Given the description of an element on the screen output the (x, y) to click on. 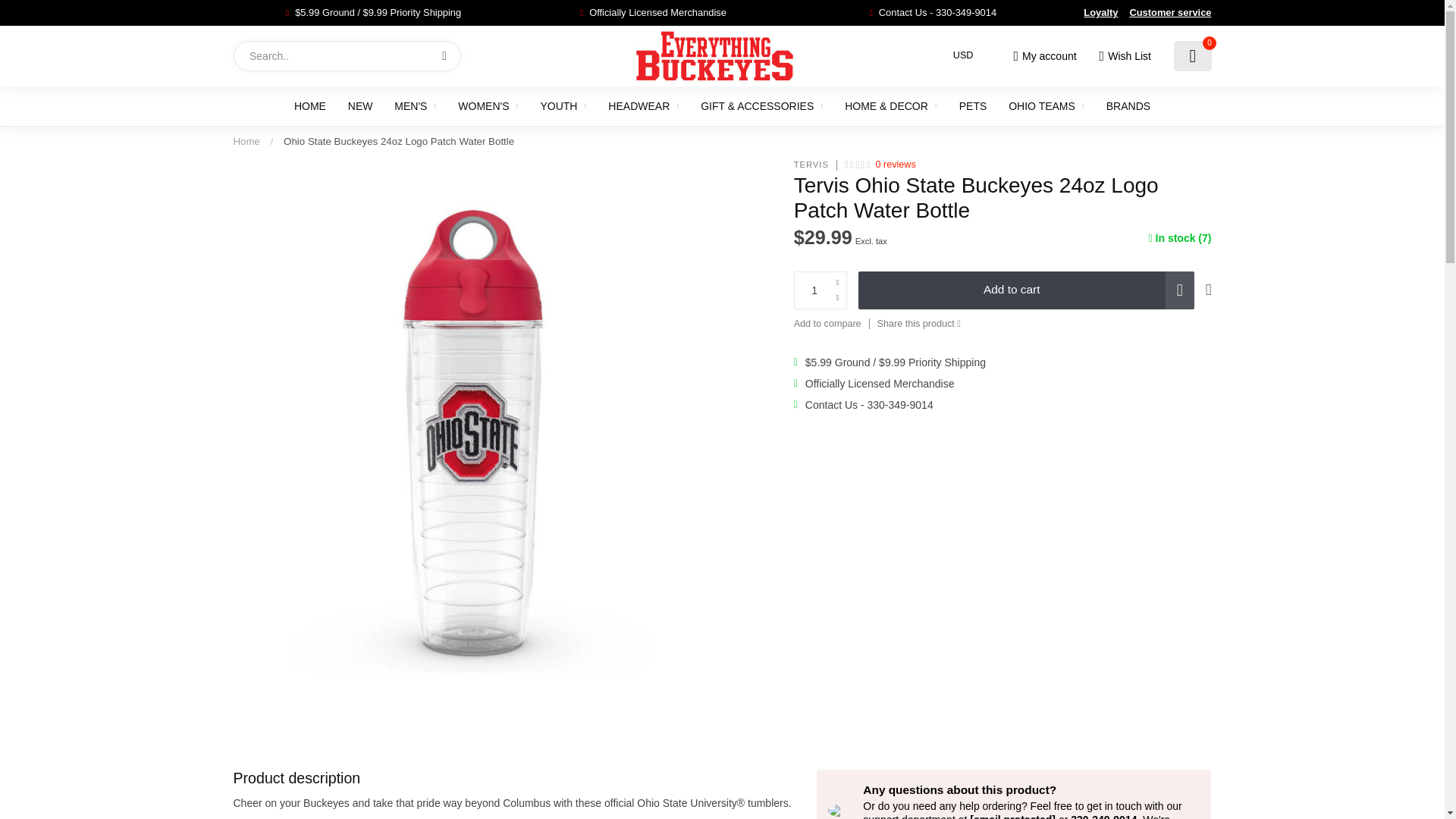
MEN'S (414, 106)
Wish List (1124, 55)
YOUTH (563, 106)
Home (246, 141)
Loyalty (1100, 12)
WOMEN'S (488, 106)
0 (1192, 55)
Wish List (1124, 55)
Customer service (1170, 12)
1 (820, 290)
HEADWEAR (643, 106)
My account (1044, 55)
